Given the description of an element on the screen output the (x, y) to click on. 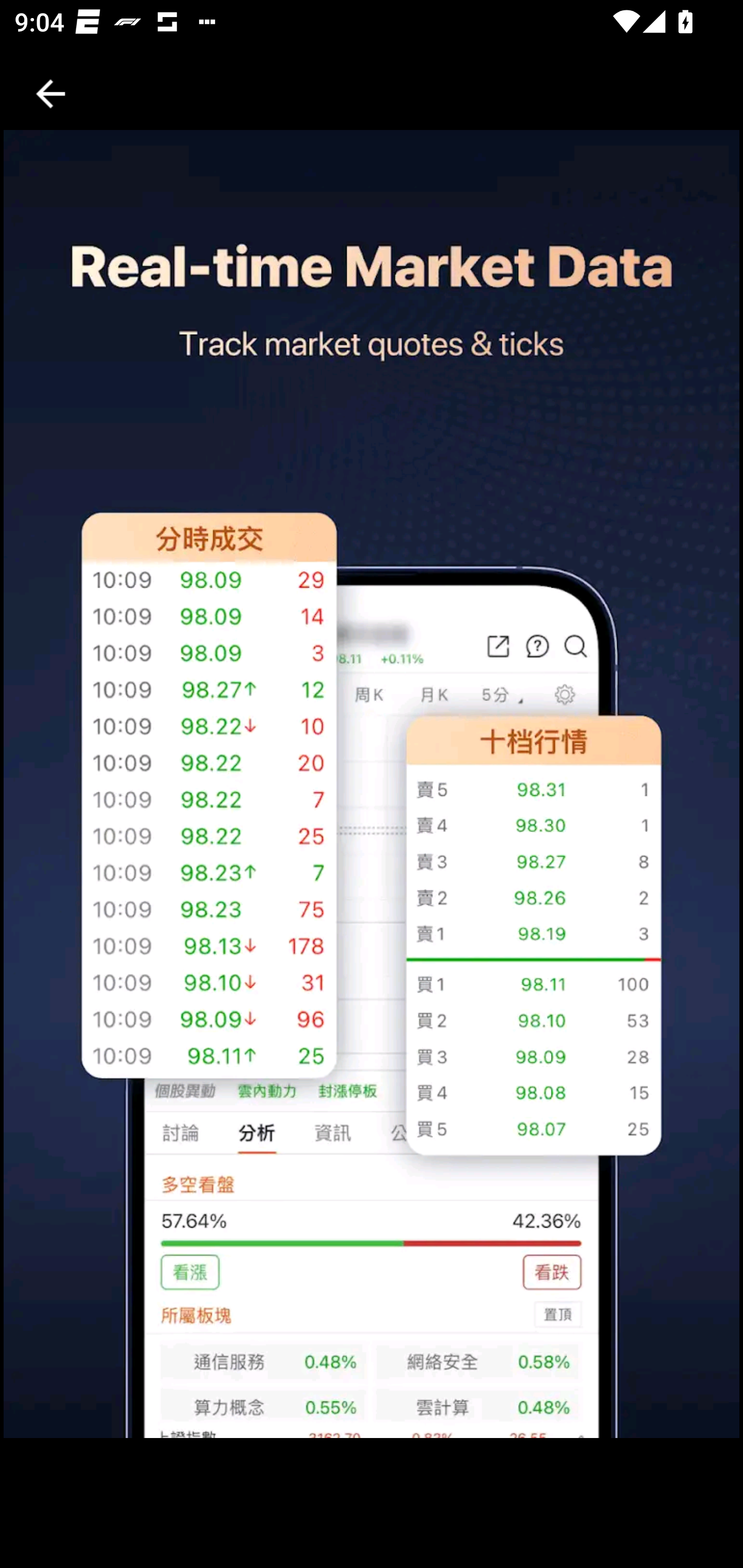
Back (50, 93)
